Given the description of an element on the screen output the (x, y) to click on. 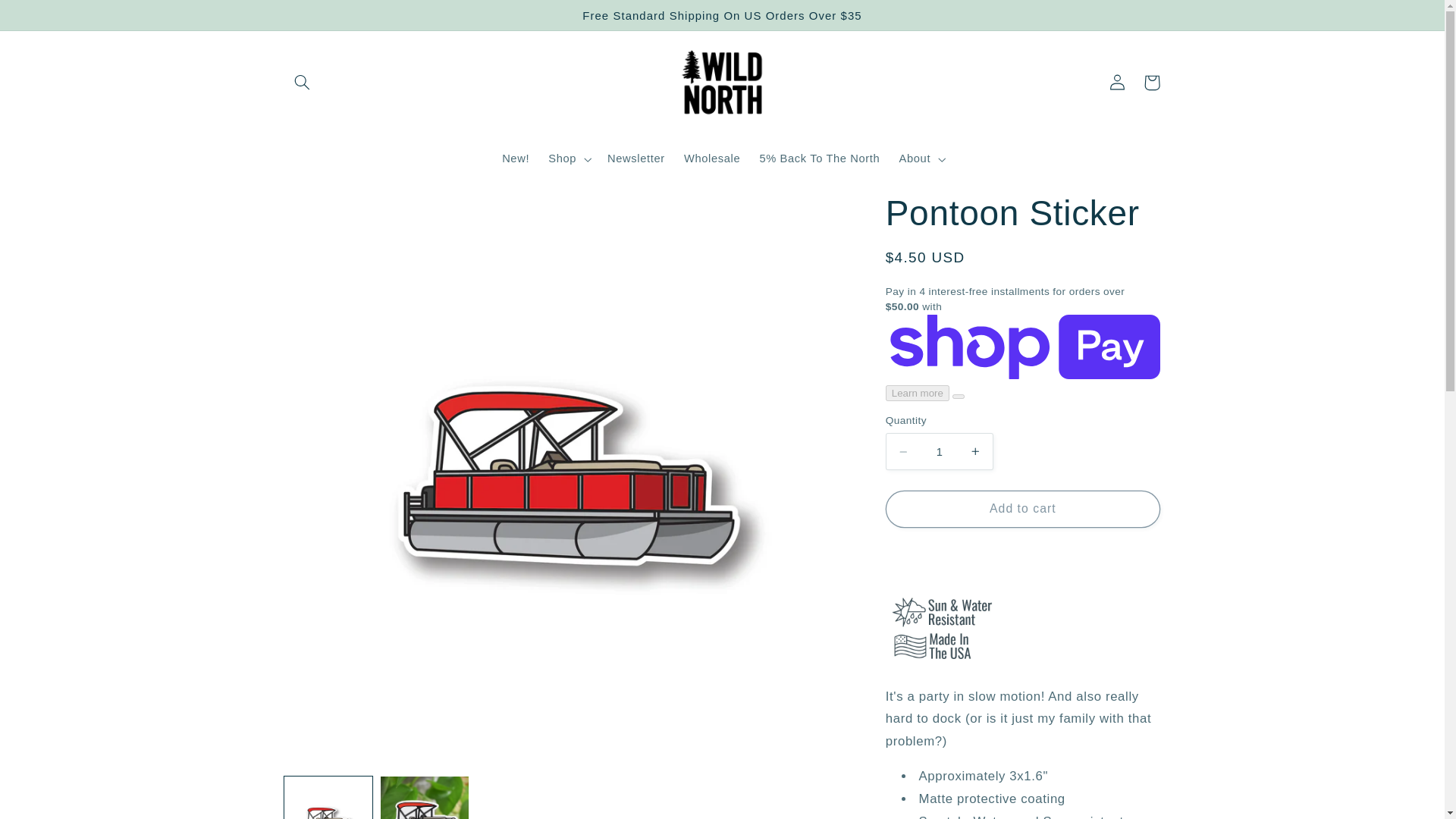
Skip to content (48, 18)
New! (515, 159)
1 (939, 451)
